Given the description of an element on the screen output the (x, y) to click on. 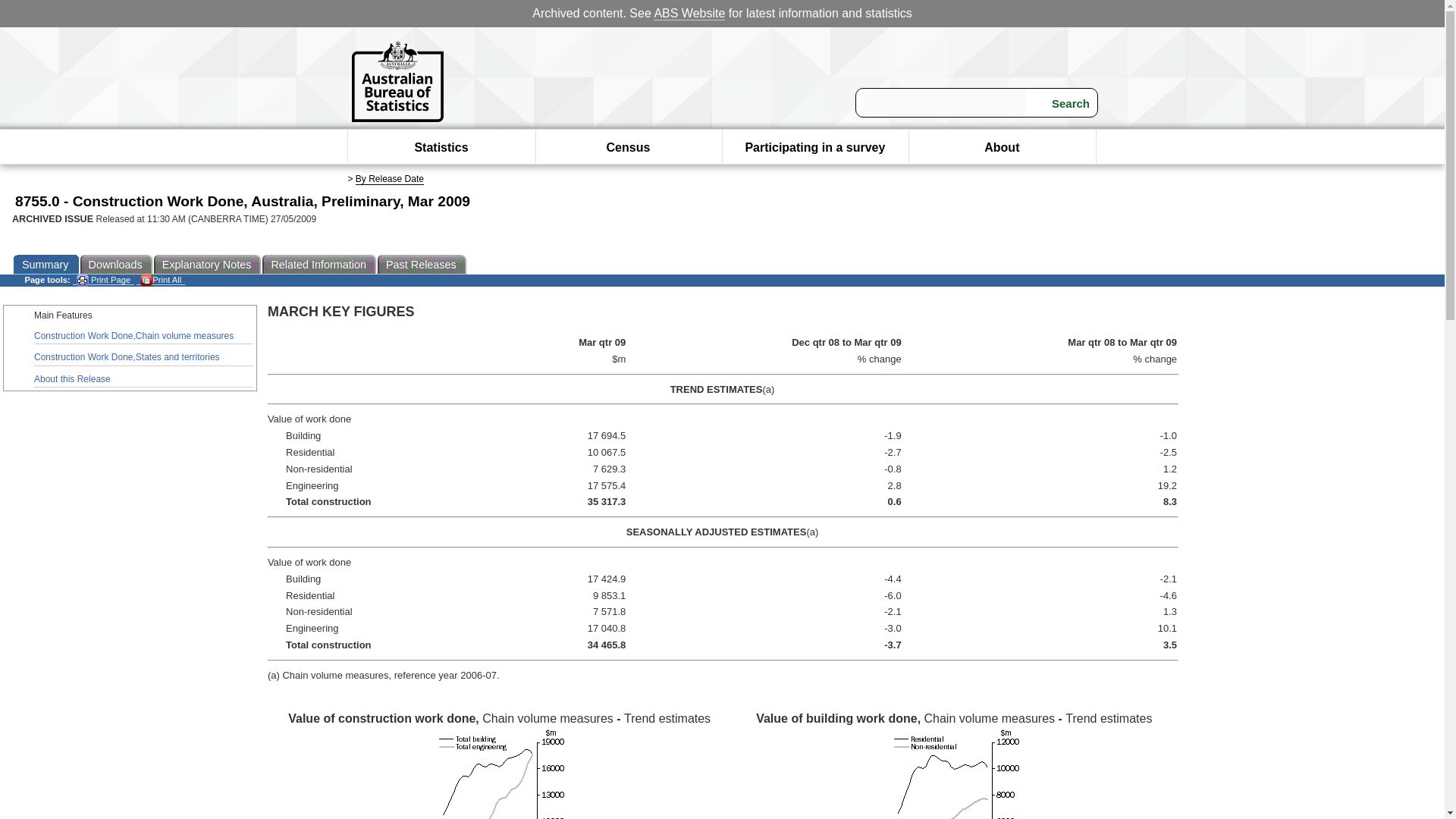
Statistics (440, 147)
Participating in a survey (814, 147)
Search (1060, 102)
By Release Date (389, 179)
Search (1060, 102)
ABS Website (689, 13)
Past Releases (422, 264)
Related Information (319, 264)
Downloads (117, 264)
About (1001, 147)
About this Release (143, 379)
ABS Website (689, 13)
Print Page (102, 280)
View by Release Date (389, 179)
Print All (160, 280)
